Given the description of an element on the screen output the (x, y) to click on. 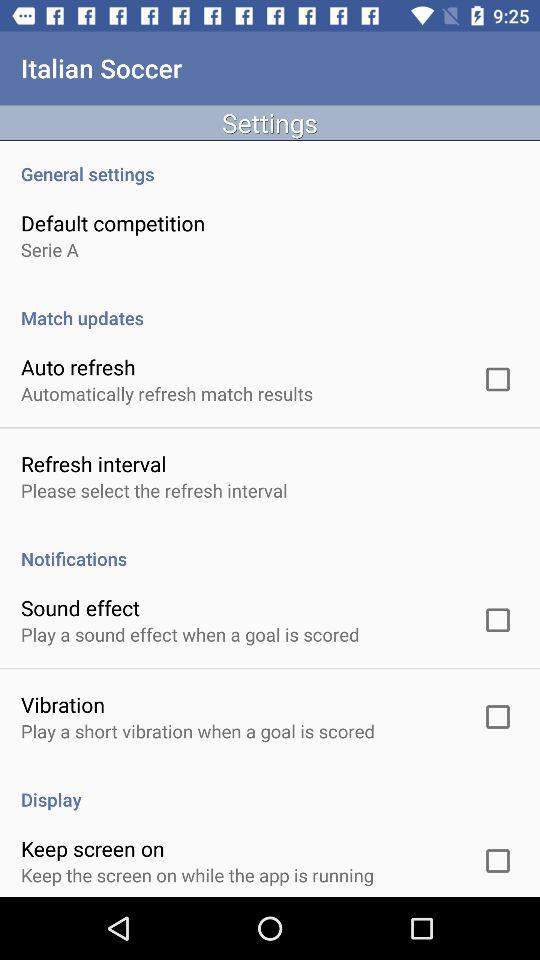
turn on item below refresh interval item (154, 490)
